Given the description of an element on the screen output the (x, y) to click on. 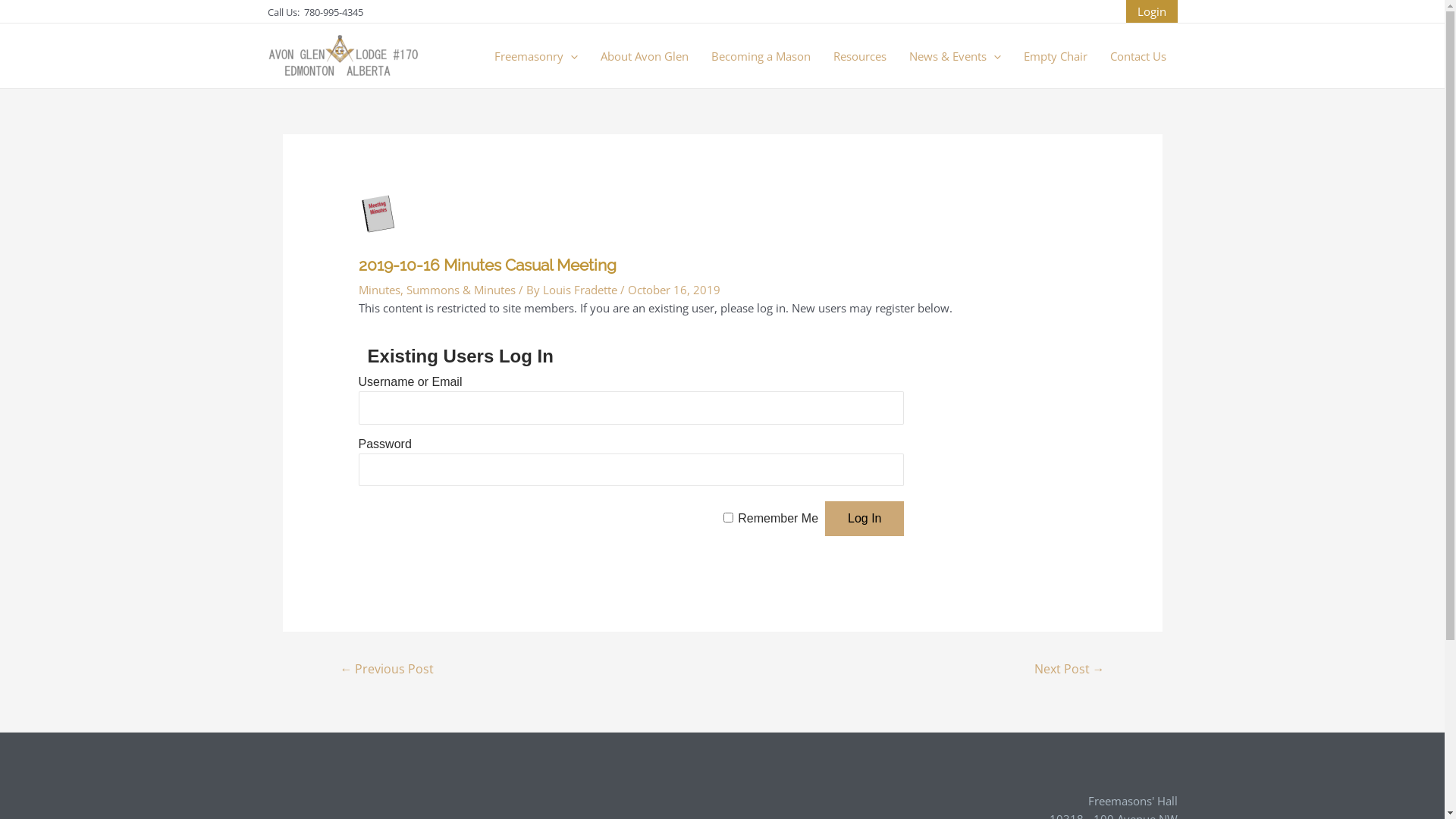
Summons & Minutes Element type: text (460, 289)
Louis Fradette Element type: text (581, 289)
Minutes Element type: text (379, 289)
Log In Element type: text (864, 518)
News & Events Element type: text (954, 55)
Login Element type: text (1150, 11)
Resources Element type: text (859, 55)
Empty Chair Element type: text (1054, 55)
Contact Us Element type: text (1137, 55)
Becoming a Mason Element type: text (760, 55)
About Avon Glen Element type: text (643, 55)
Freemasonry Element type: text (535, 55)
